Given the description of an element on the screen output the (x, y) to click on. 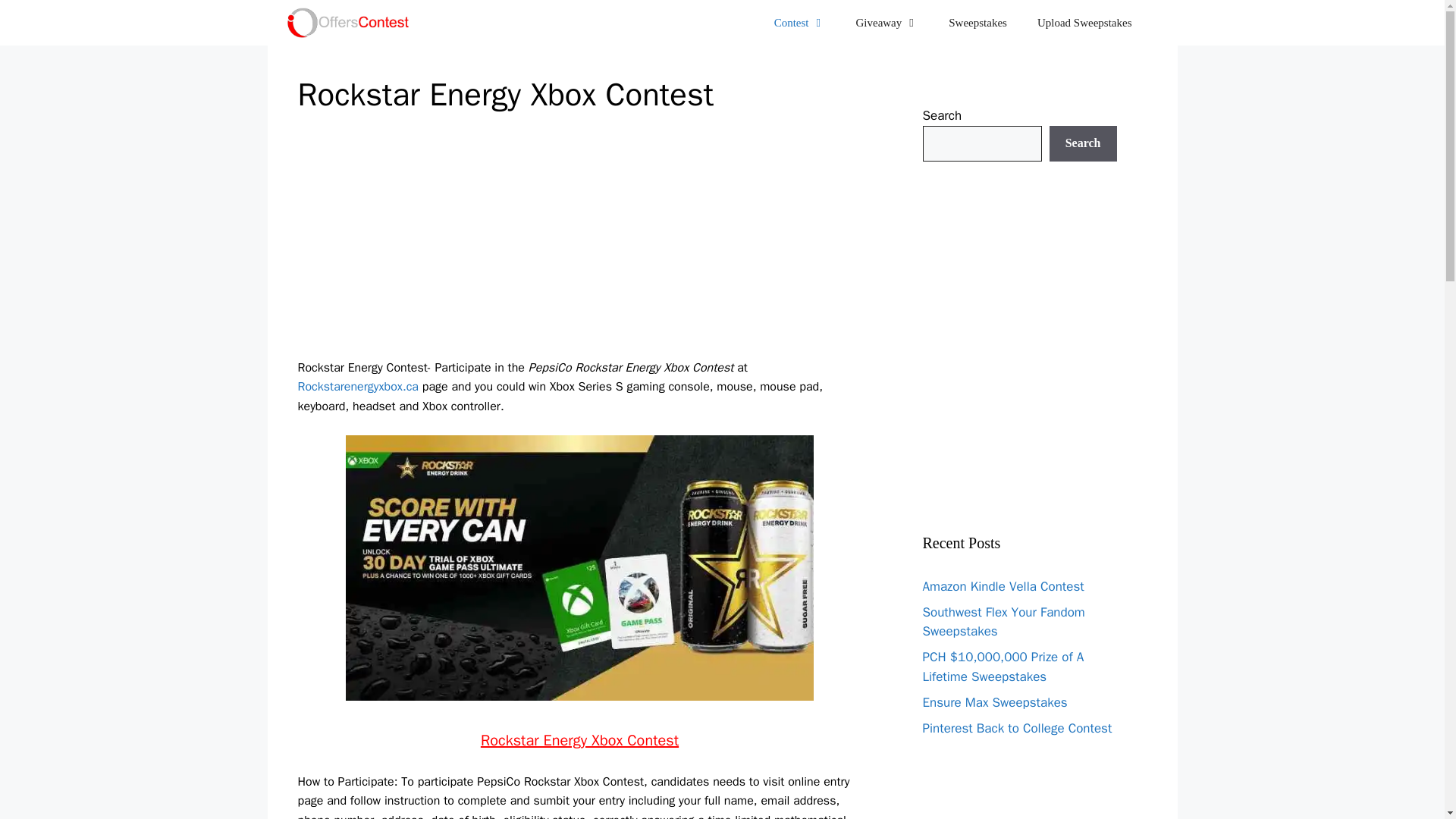
Southwest Flex Your Fandom Sweepstakes (1002, 621)
Offers Contest (348, 22)
Sweepstakes (977, 22)
Advertisement (579, 245)
Search (1082, 144)
Giveaway (886, 22)
Advertisement (1042, 343)
Advertisement (1054, 816)
Contest (799, 22)
Amazon Kindle Vella Contest (1002, 585)
Upload Sweepstakes (1084, 22)
Ensure Max Sweepstakes (994, 702)
Rockstarenergyxbox.ca (357, 386)
Pinterest Back to College Contest (1016, 728)
